Given the description of an element on the screen output the (x, y) to click on. 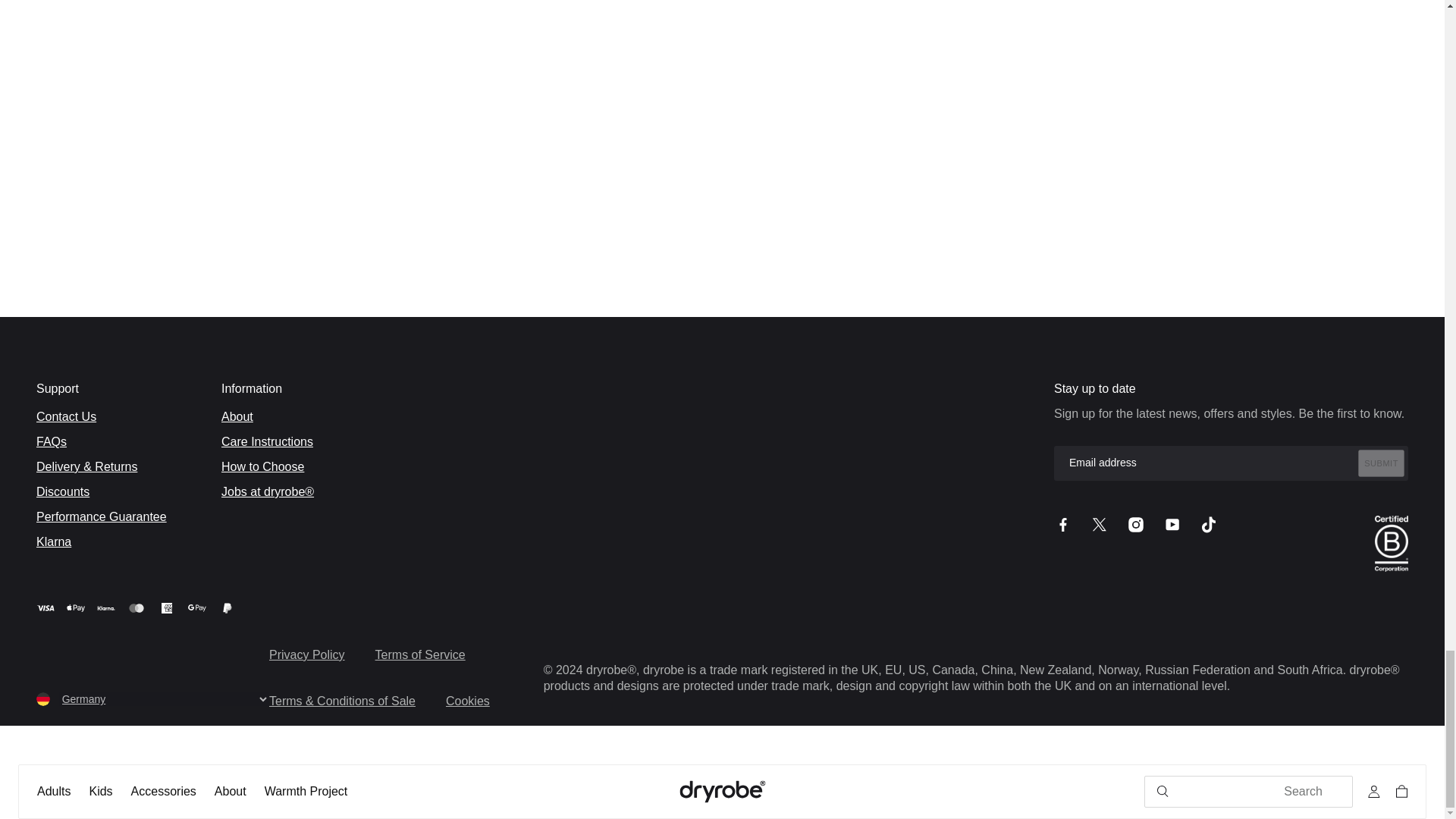
dryrobe on youtube (1171, 524)
Warmth Project (305, 791)
Toggle cart (1398, 791)
klarna (106, 607)
dryrobe on tiktok (1208, 524)
Kids (100, 791)
apple-pay (75, 607)
mastercard (136, 607)
visa (45, 607)
paypal (226, 607)
dryrobe on twitter (1099, 524)
About (230, 791)
Account (1374, 791)
amex (166, 607)
dryrobe on instagram (1135, 524)
